Given the description of an element on the screen output the (x, y) to click on. 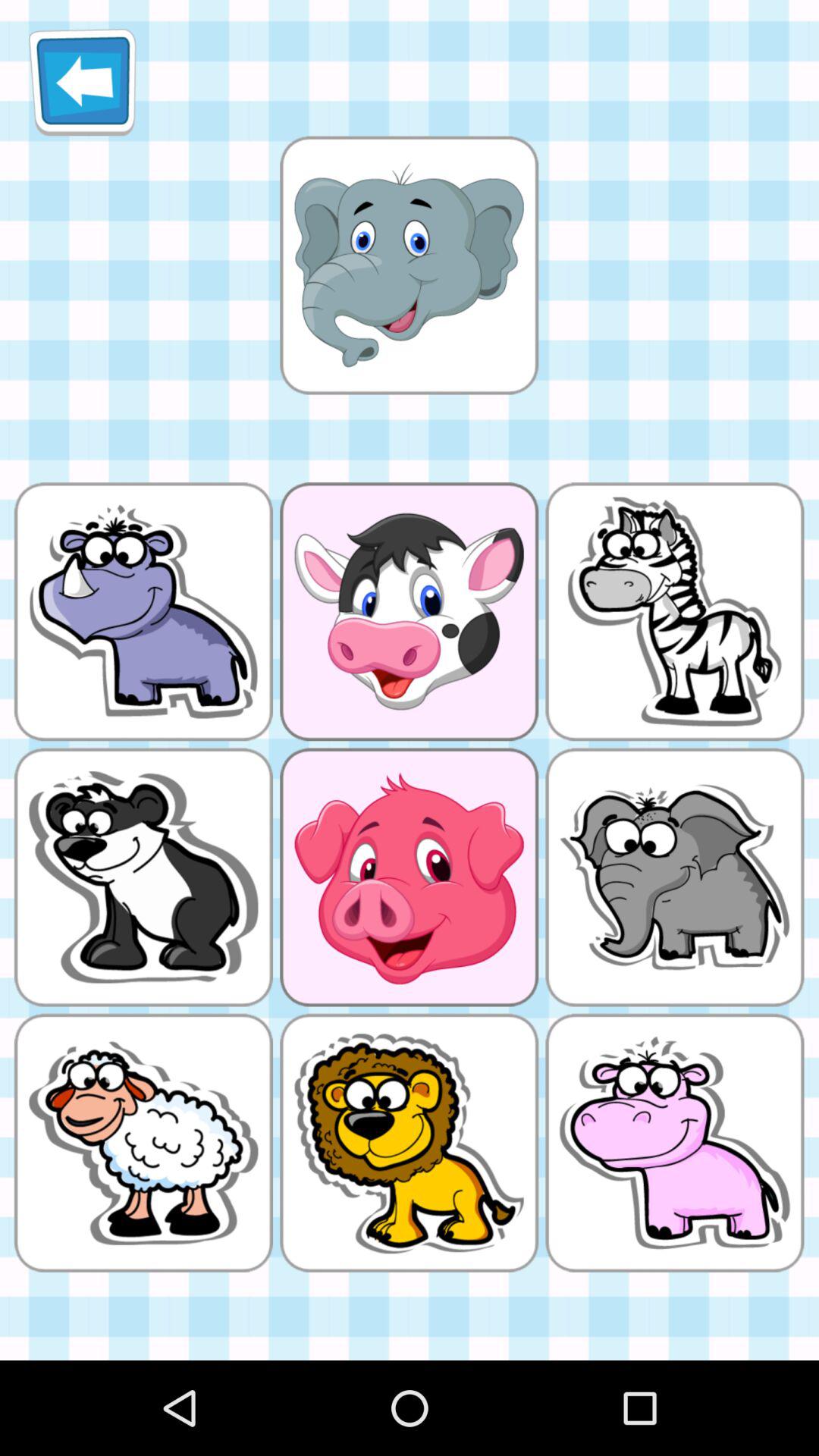
choosen animal (409, 265)
